Given the description of an element on the screen output the (x, y) to click on. 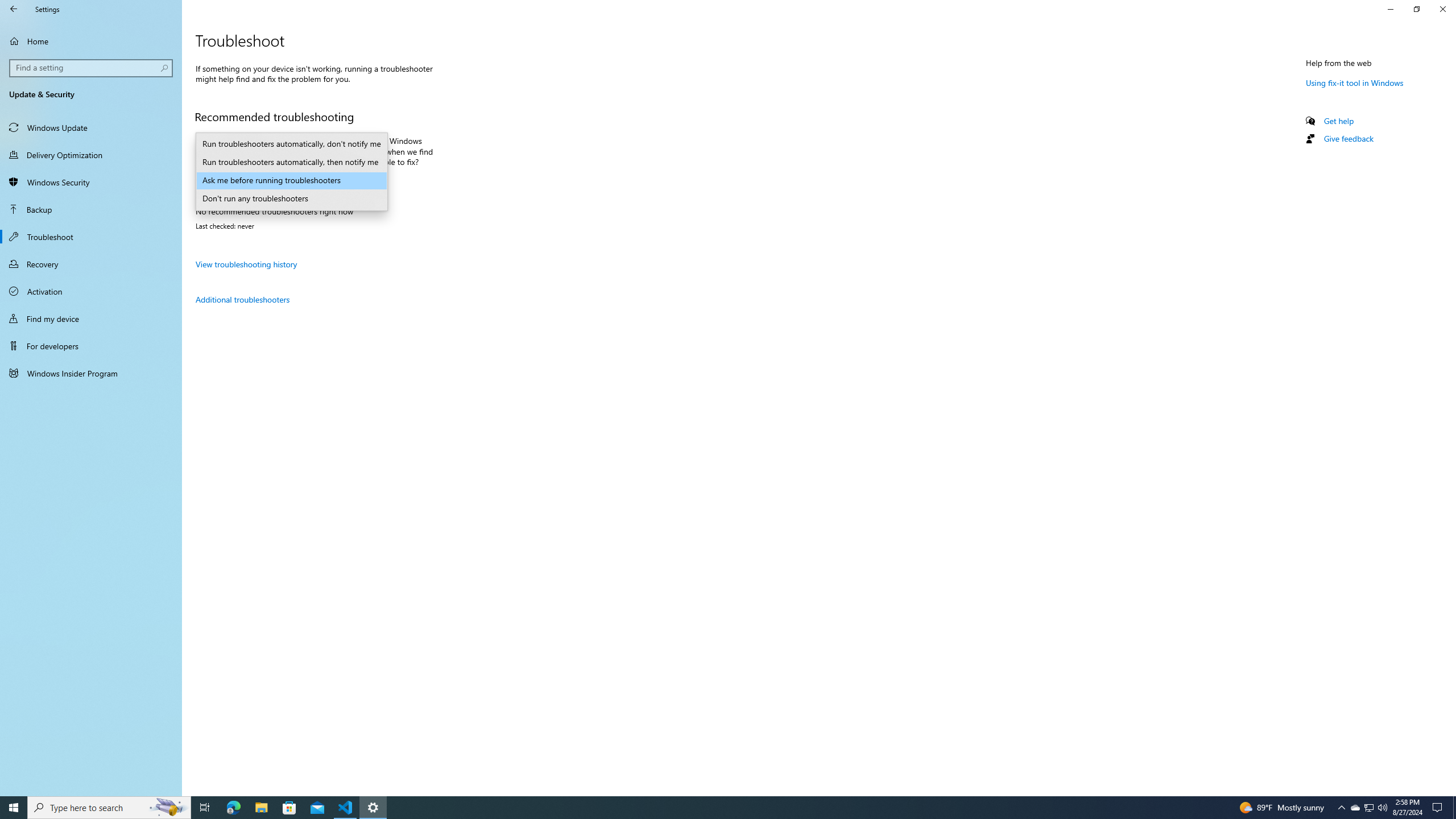
Additional troubleshooters (242, 299)
Delivery Optimization (91, 154)
View troubleshooting history (246, 263)
Activation (91, 290)
Ask me before running troubleshooters (291, 180)
Run troubleshooters automatically, don't notify me (291, 144)
